Given the description of an element on the screen output the (x, y) to click on. 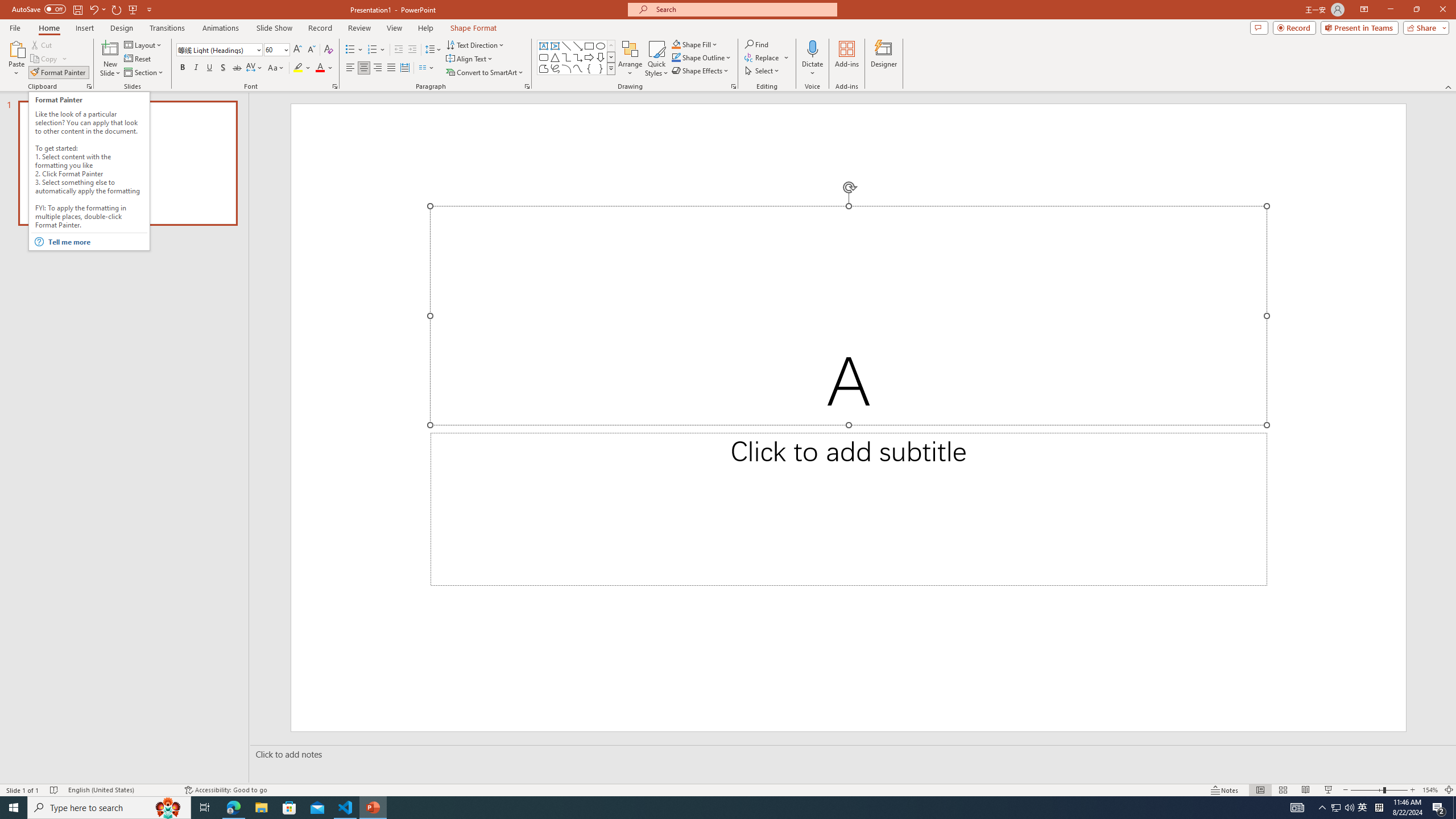
Rectangle (589, 45)
Freeform: Scribble (554, 68)
From Beginning (133, 9)
Text Direction (476, 44)
Right Brace (600, 68)
Numbering (372, 49)
Slide Show (273, 28)
Copy (45, 58)
Redo (117, 9)
Review (359, 28)
Quick Styles (656, 58)
Shape Outline (701, 56)
Font (215, 49)
Reset (138, 58)
